Given the description of an element on the screen output the (x, y) to click on. 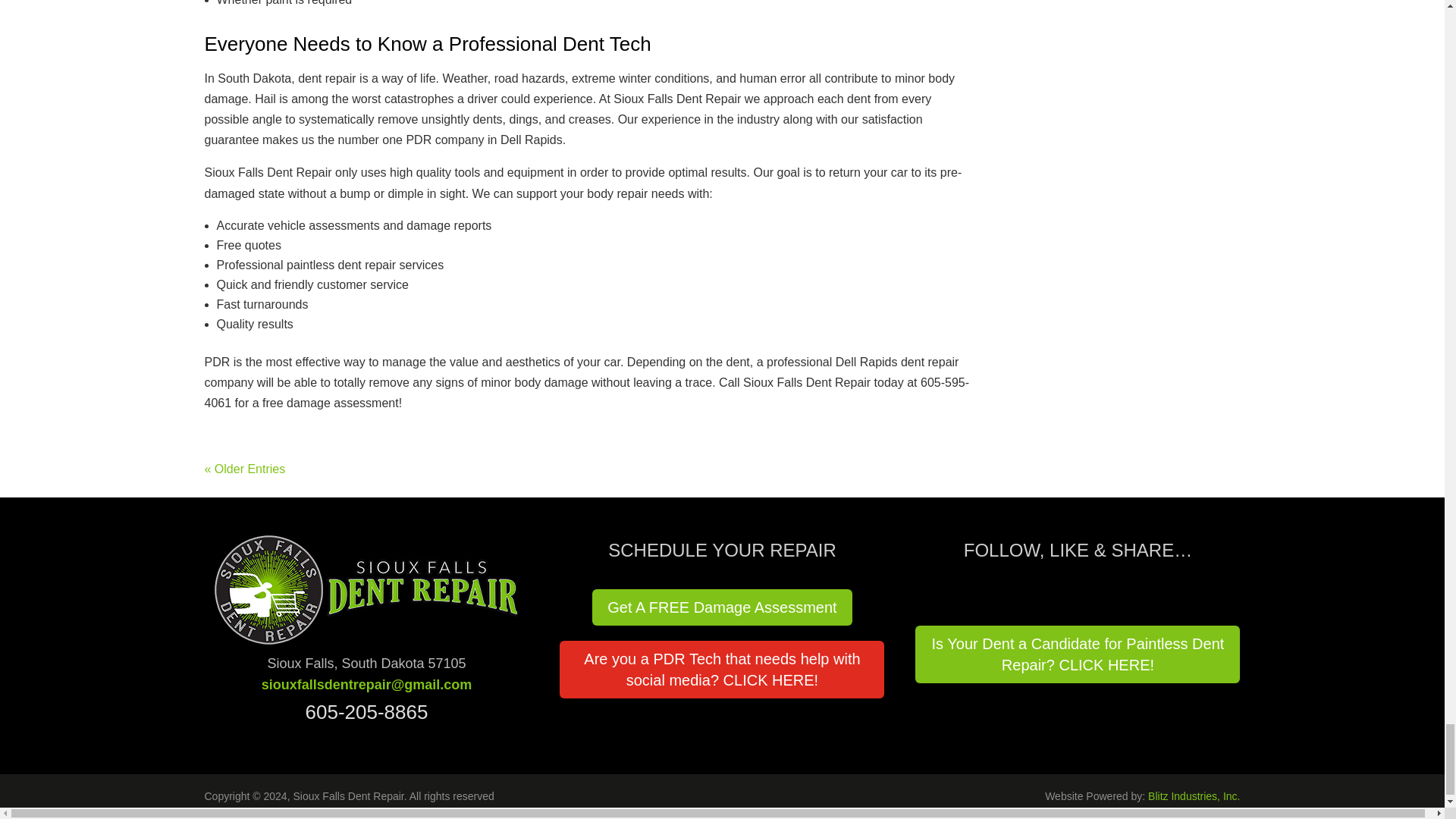
sioux-falls-logo-new (366, 589)
